Given the description of an element on the screen output the (x, y) to click on. 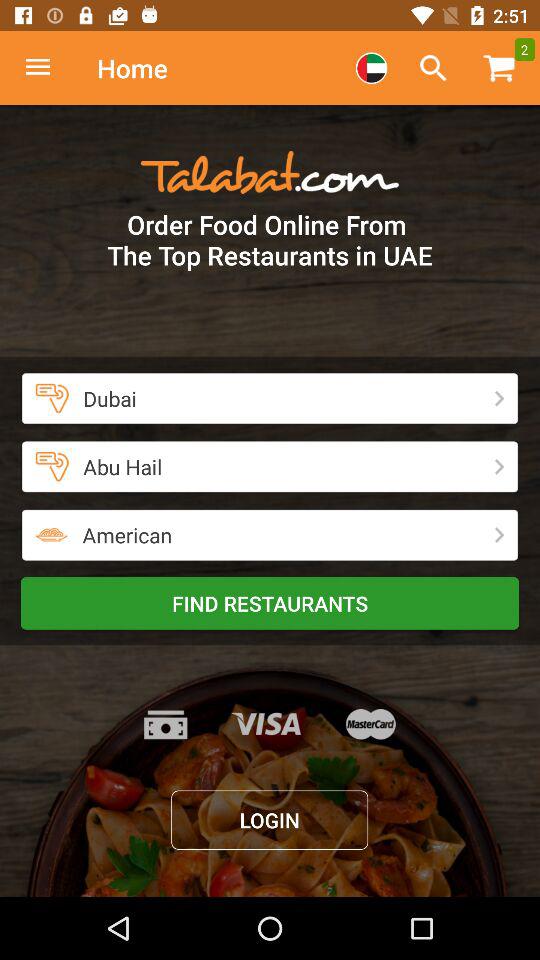
search button (433, 68)
